Given the description of an element on the screen output the (x, y) to click on. 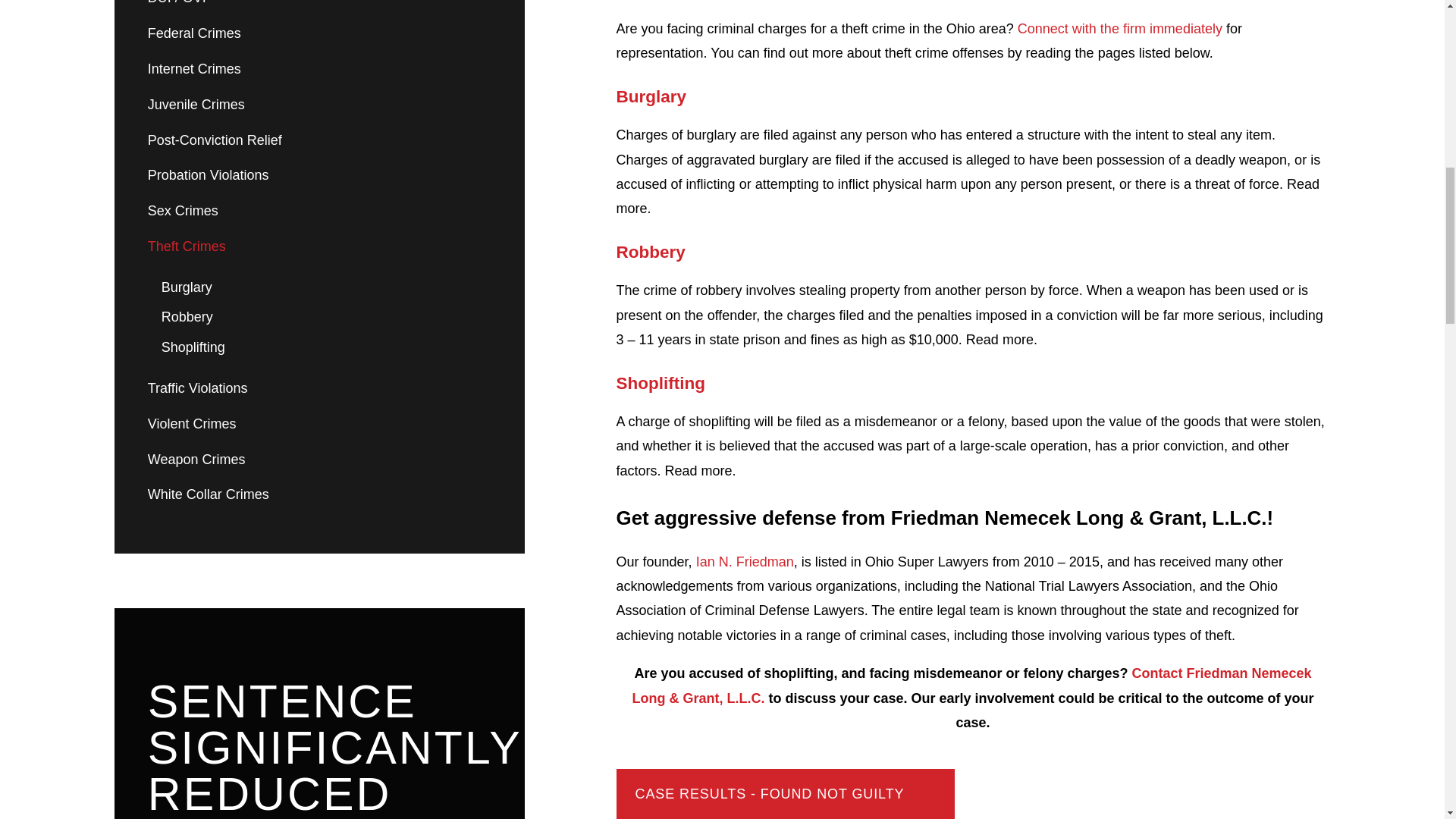
Open child menu of White Collar Crimes (485, 495)
Open child menu of Violent Crimes (485, 423)
Open child menu of Theft Crimes (485, 246)
Open child menu of Sex Crimes (485, 211)
